Given the description of an element on the screen output the (x, y) to click on. 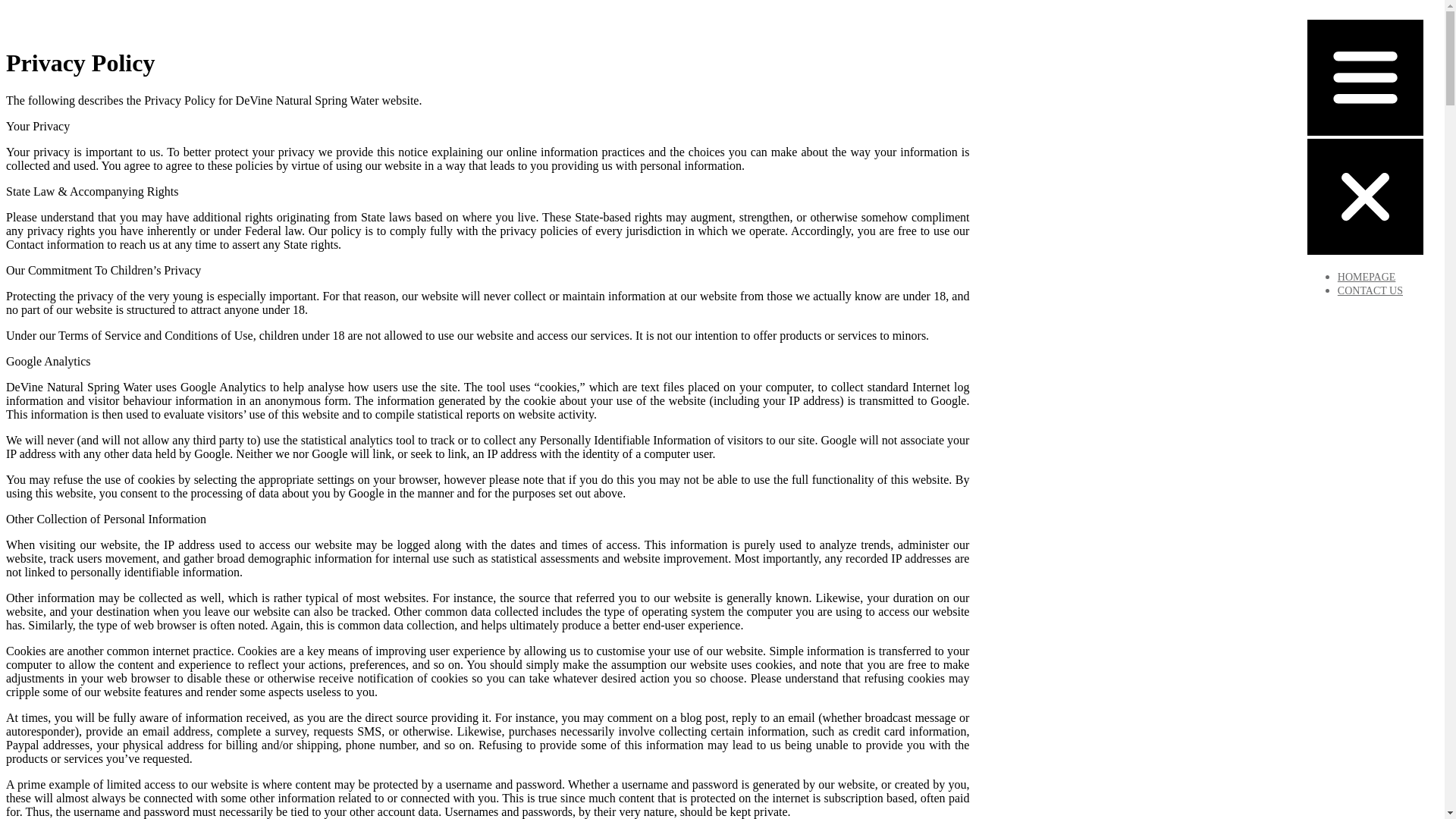
HOMEPAGE Element type: text (1366, 276)
CONTACT US Element type: text (1369, 290)
